Given the description of an element on the screen output the (x, y) to click on. 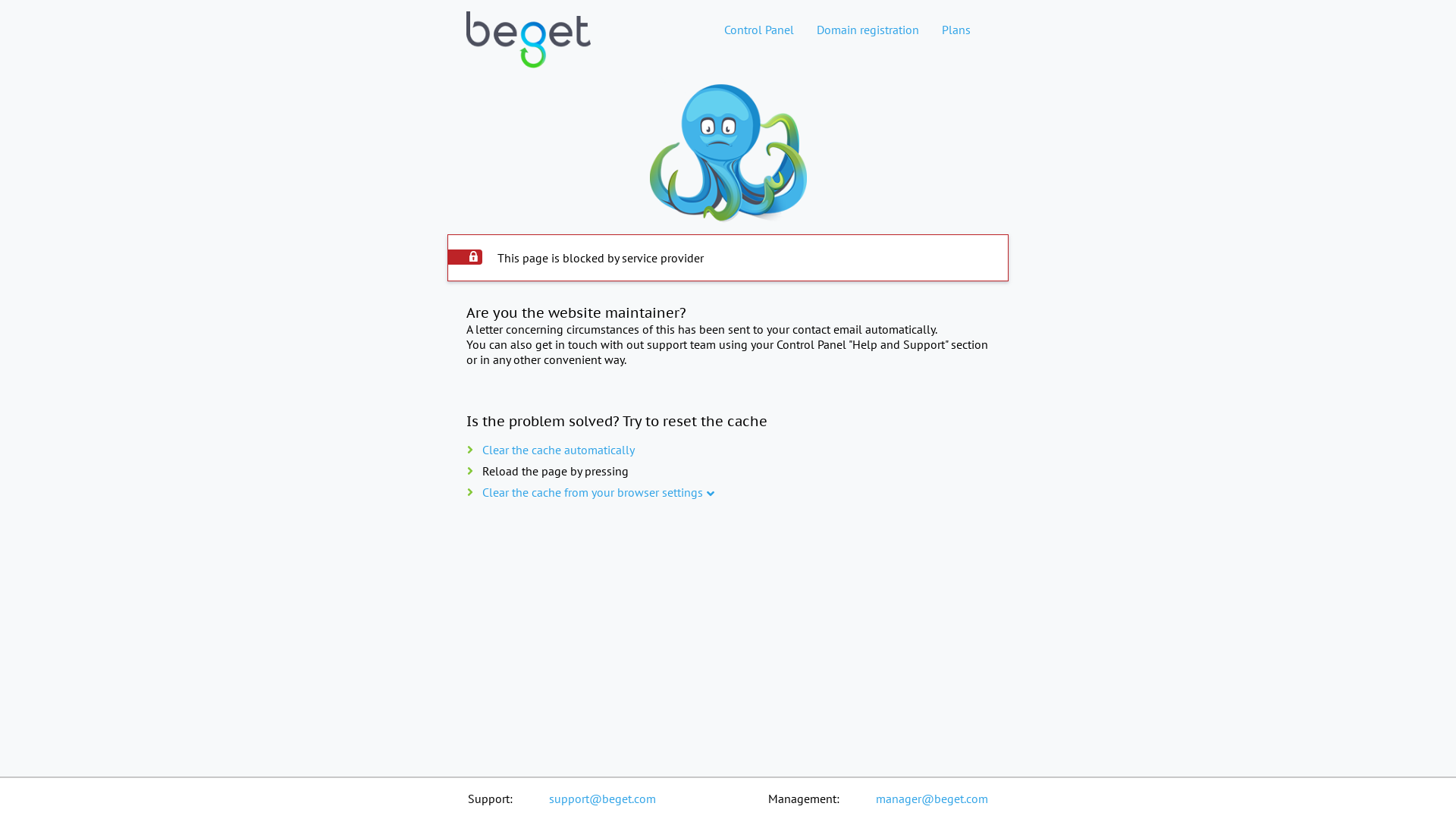
Clear the cache automatically Element type: text (558, 449)
Plans Element type: text (956, 29)
Clear the cache from your browser settings Element type: text (592, 491)
manager@beget.com Element type: text (931, 798)
Control Panel Element type: text (758, 29)
Web hosting home page Element type: hover (528, 51)
support@beget.com Element type: text (602, 798)
Domain registration Element type: text (867, 29)
